Given the description of an element on the screen output the (x, y) to click on. 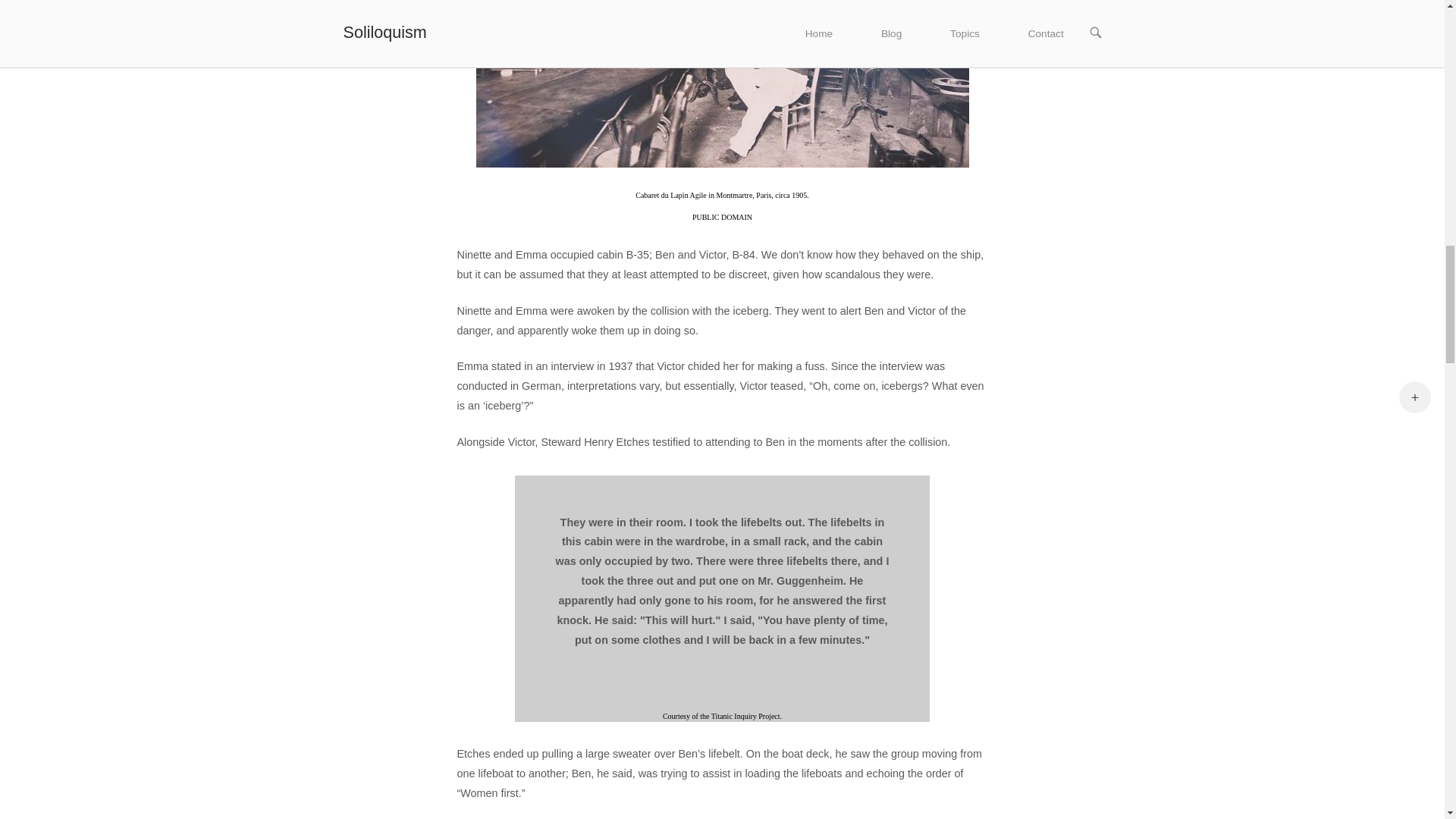
PUBLIC DOMAIN (722, 216)
Courtesy of the Titanic Inquiry Project. (721, 715)
